Given the description of an element on the screen output the (x, y) to click on. 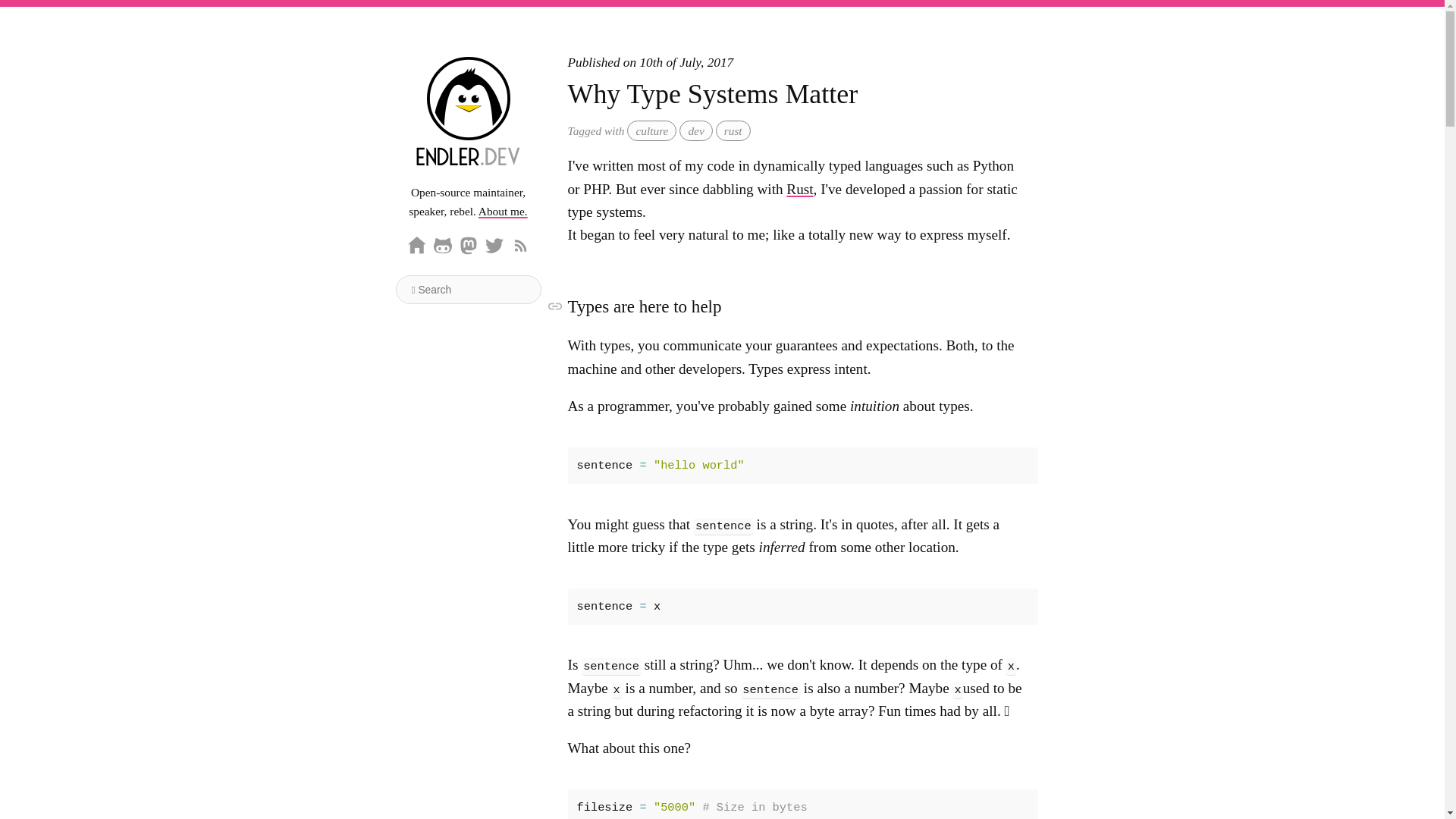
Twitter (493, 245)
Go to homepage (416, 245)
rust (733, 130)
culture (652, 130)
Github (442, 245)
RSS feed (520, 245)
dev (695, 130)
Mastodon (468, 245)
Rust (799, 188)
About me. (503, 210)
